Given the description of an element on the screen output the (x, y) to click on. 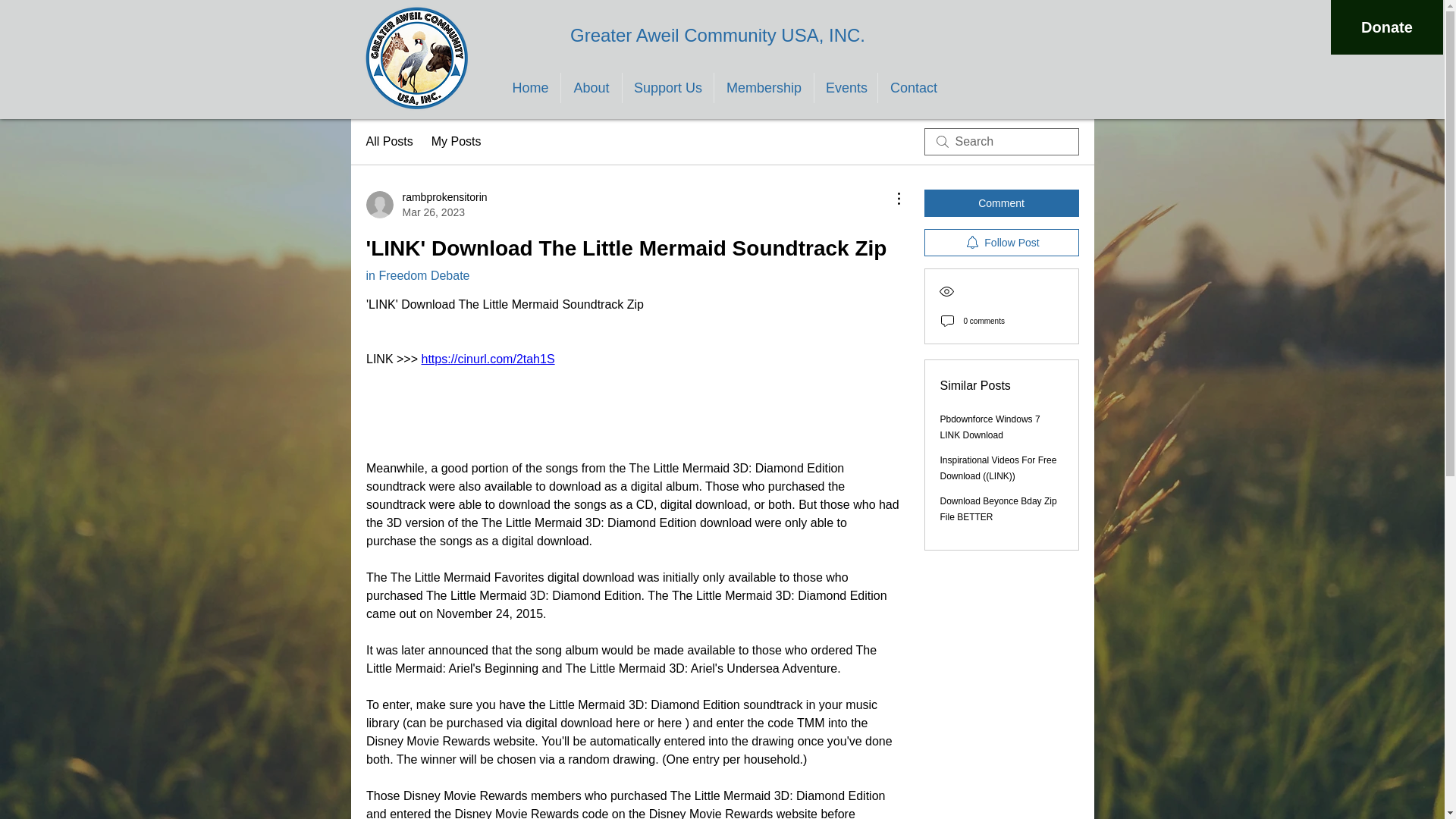
Home (530, 87)
My Posts (455, 141)
Events (845, 87)
Donate (1386, 27)
Membership (763, 87)
Pbdownforce Windows 7 LINK Download (990, 427)
Support Us (668, 87)
About (590, 87)
Contact (913, 87)
Comment (1000, 203)
Follow Post (1000, 242)
in Freedom Debate (416, 275)
All Posts (388, 141)
Download Beyonce Bday Zip File BETTER (425, 204)
